Given the description of an element on the screen output the (x, y) to click on. 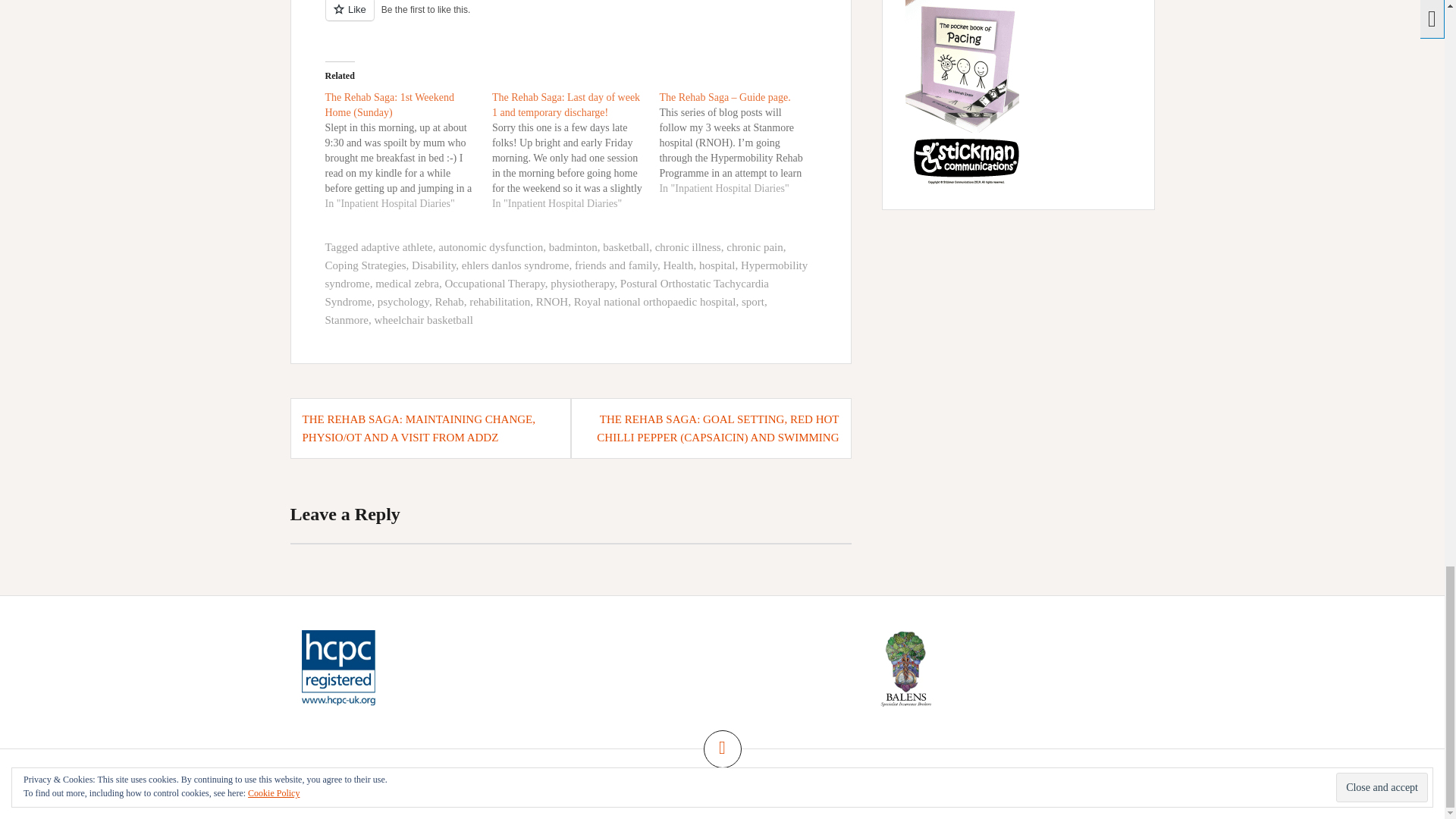
HCPC Registered (338, 667)
Like or Reblog (569, 19)
The Rehab Saga: Last day of week 1 and temporary discharge! (566, 104)
The Rehab Saga: Last day of week 1 and temporary discharge! (575, 150)
